Given the description of an element on the screen output the (x, y) to click on. 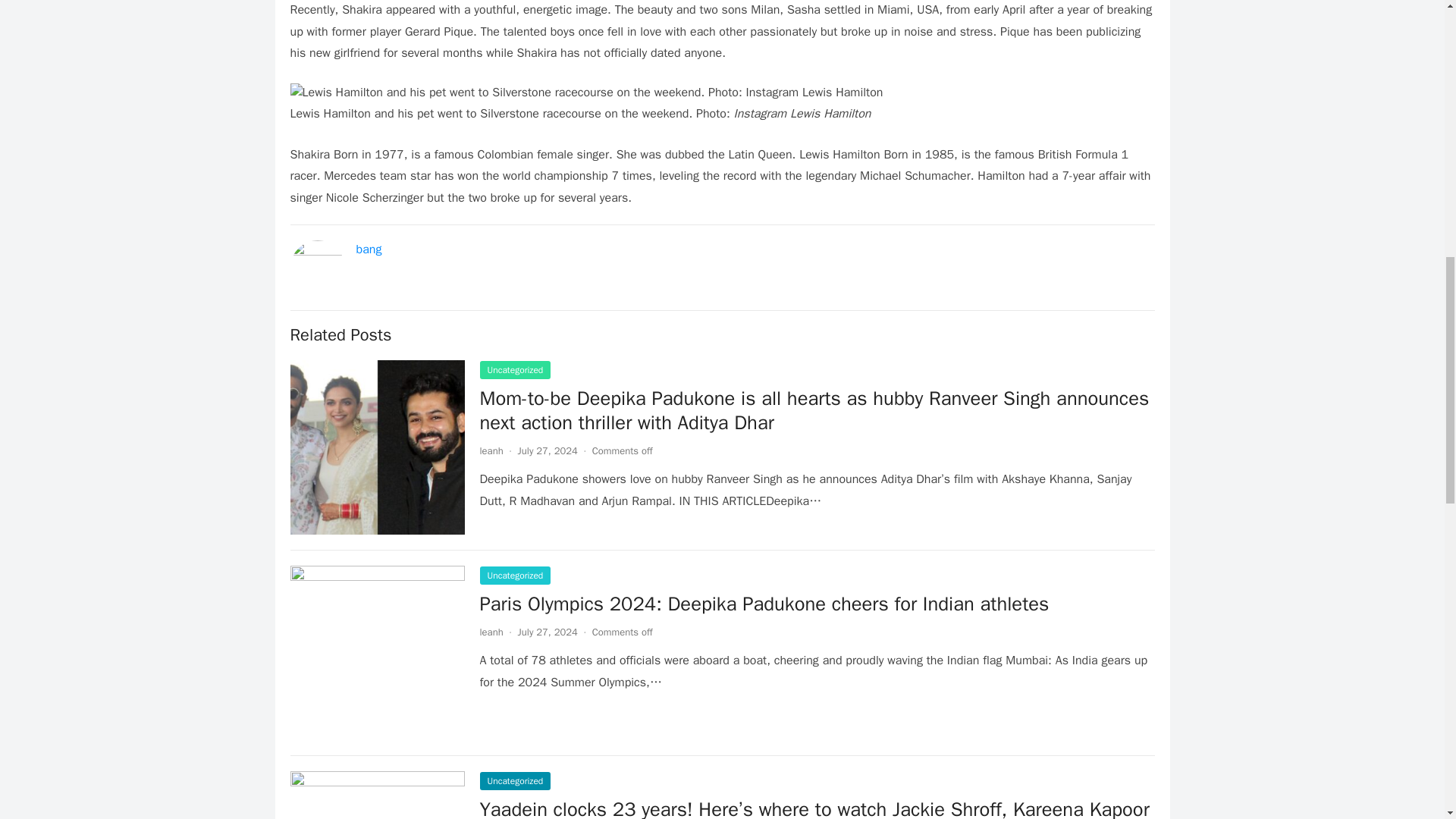
Posts by leanh (490, 631)
Posts by leanh (490, 450)
